Given the description of an element on the screen output the (x, y) to click on. 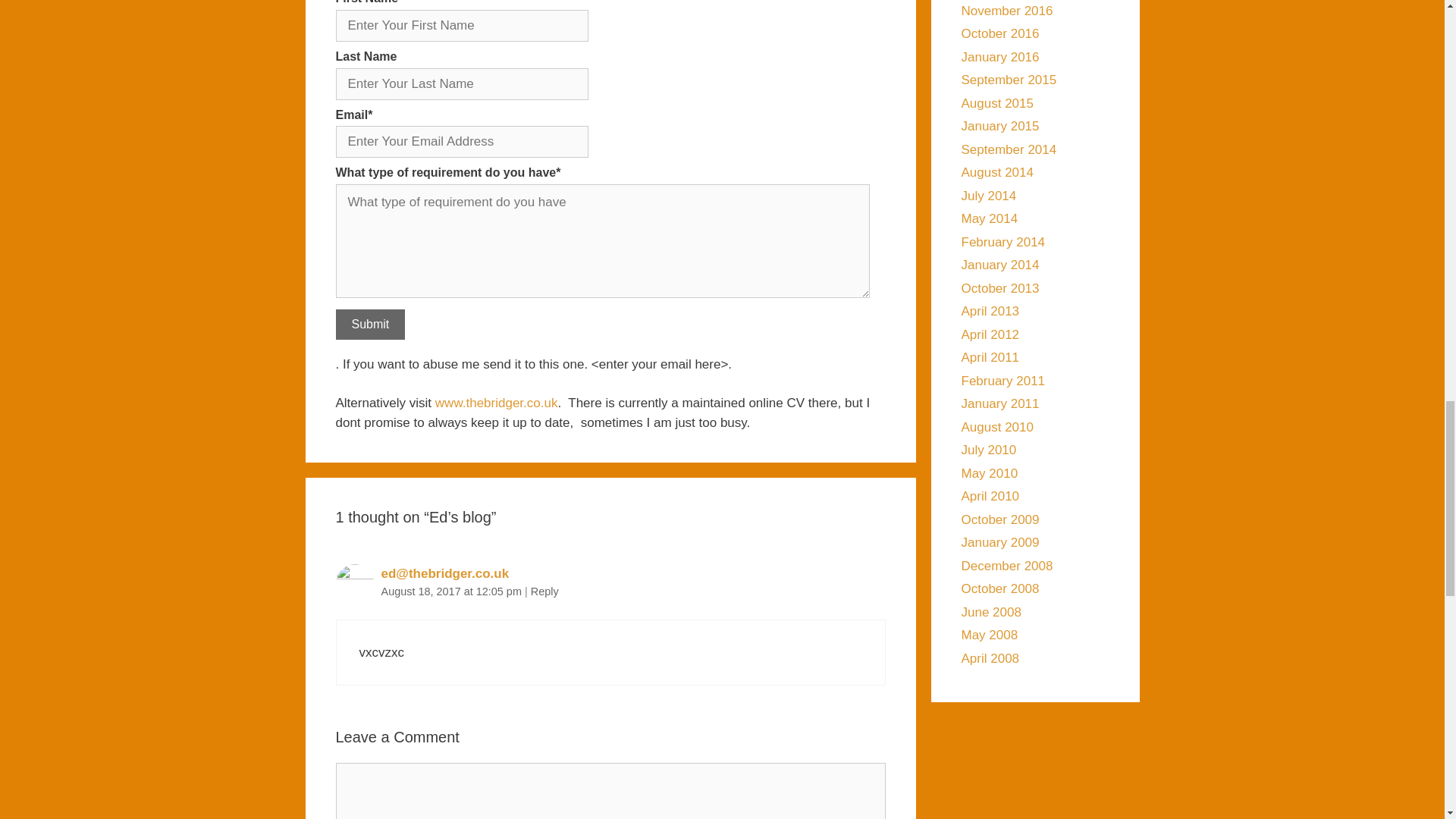
 www.thebridger.co.uk (493, 402)
August 18, 2017 at 12:05 pm (452, 591)
Reply (545, 591)
Submit (369, 324)
Online CV (493, 402)
